Given the description of an element on the screen output the (x, y) to click on. 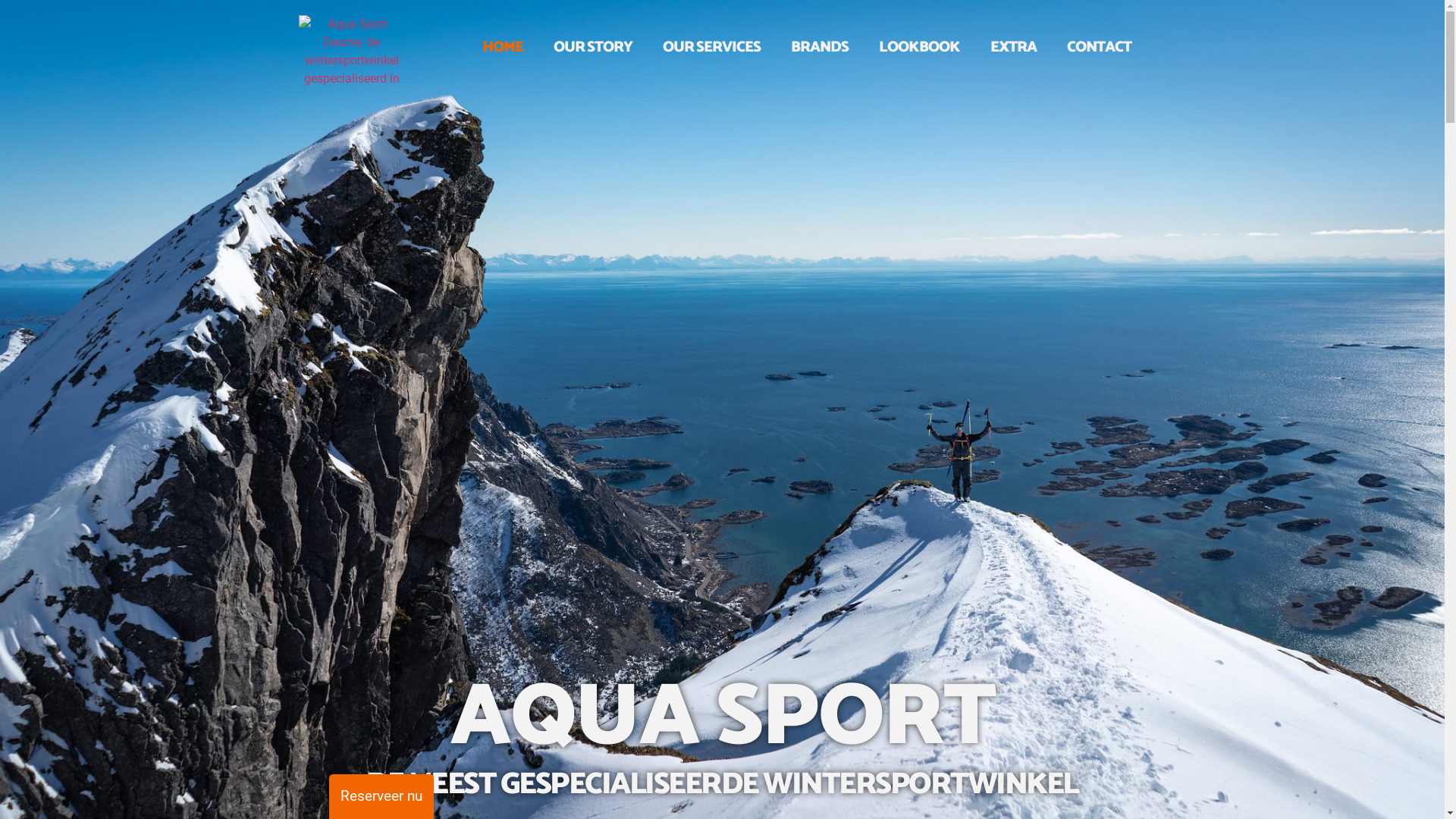
LOOKBOOK Element type: text (919, 47)
BRANDS Element type: text (819, 47)
HOME Element type: text (502, 47)
CONTACT Element type: text (1098, 47)
OUR STORY Element type: text (592, 47)
EXTRA Element type: text (1013, 47)
OUR SERVICES Element type: text (711, 47)
